Given the description of an element on the screen output the (x, y) to click on. 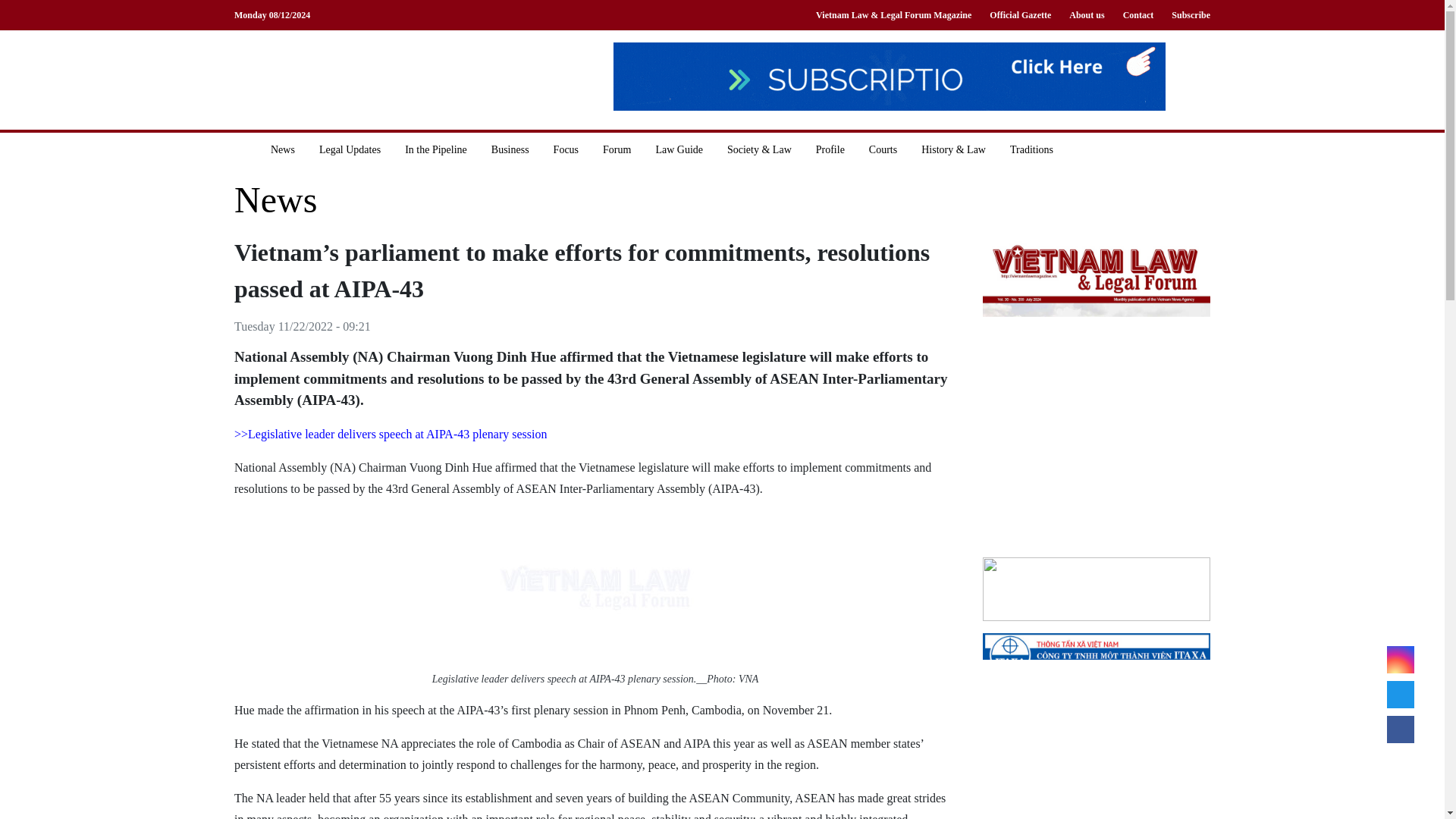
Official Gazette (1019, 15)
In the Pipeline (436, 149)
Traditions (1031, 149)
Business (510, 149)
Forum (617, 149)
News (283, 149)
Legal Updates (350, 149)
News (275, 200)
Courts (882, 149)
Profile (830, 149)
